Given the description of an element on the screen output the (x, y) to click on. 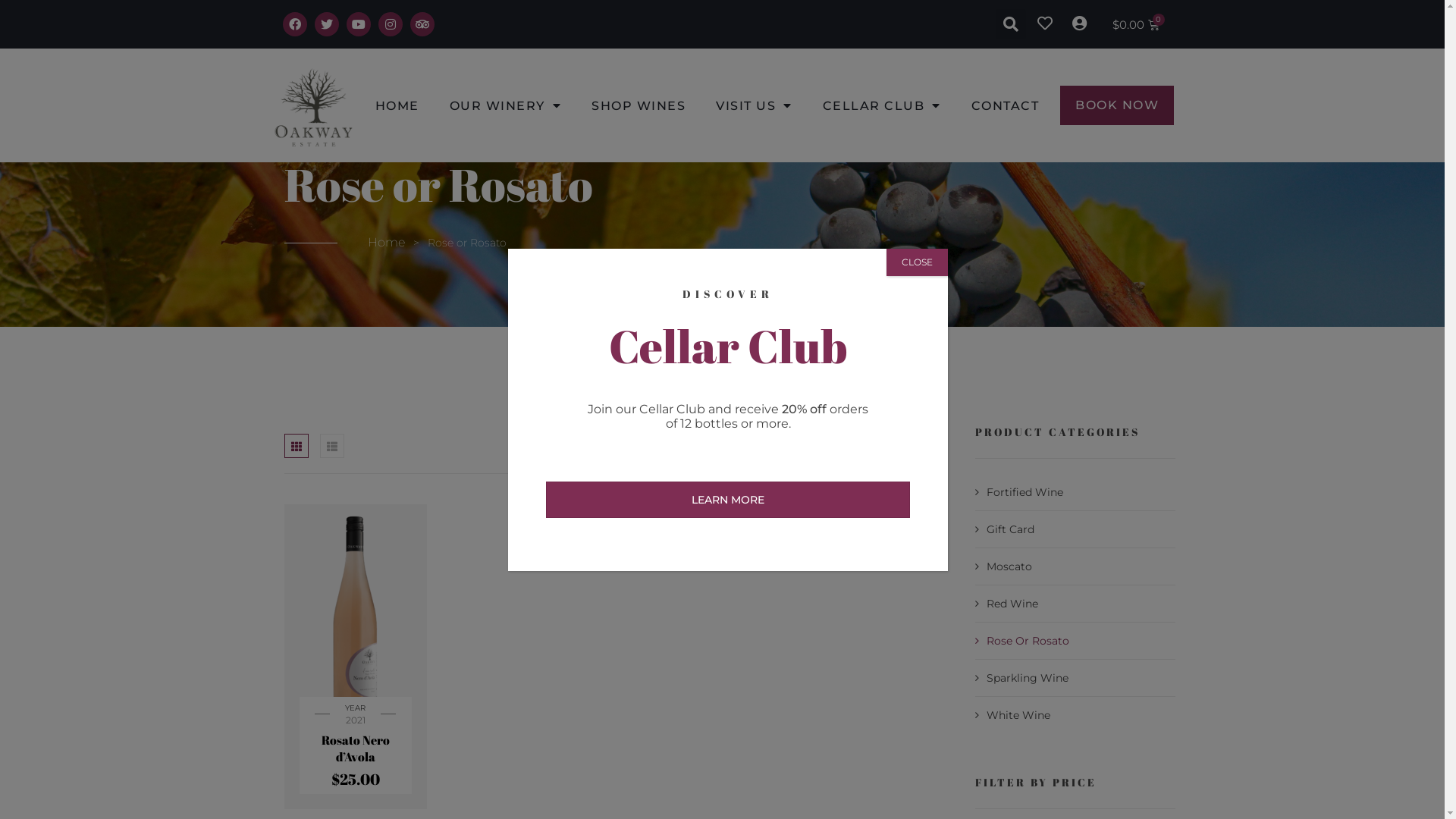
list Element type: text (332, 445)
Grid Element type: hover (296, 445)
Red Wine Element type: text (1006, 603)
Gift Card Element type: text (1004, 529)
Fortified Wine Element type: text (1019, 491)
BOOK NOW Element type: text (1116, 105)
grid Element type: text (296, 445)
OUR WINERY Element type: text (505, 104)
LEARN MORE Element type: text (728, 499)
List Element type: hover (332, 445)
$0.00
0 Element type: text (1135, 23)
White Wine Element type: text (1012, 714)
HOME Element type: text (397, 104)
CLOSE Element type: text (916, 262)
Sparkling Wine Element type: text (1021, 677)
CONTACT Element type: text (1005, 104)
Rose Or Rosato Element type: text (1022, 640)
Moscato Element type: text (1003, 566)
Home Element type: text (385, 242)
CELLAR CLUB Element type: text (881, 104)
VISIT US Element type: text (753, 104)
SHOP WINES Element type: text (638, 104)
